Given the description of an element on the screen output the (x, y) to click on. 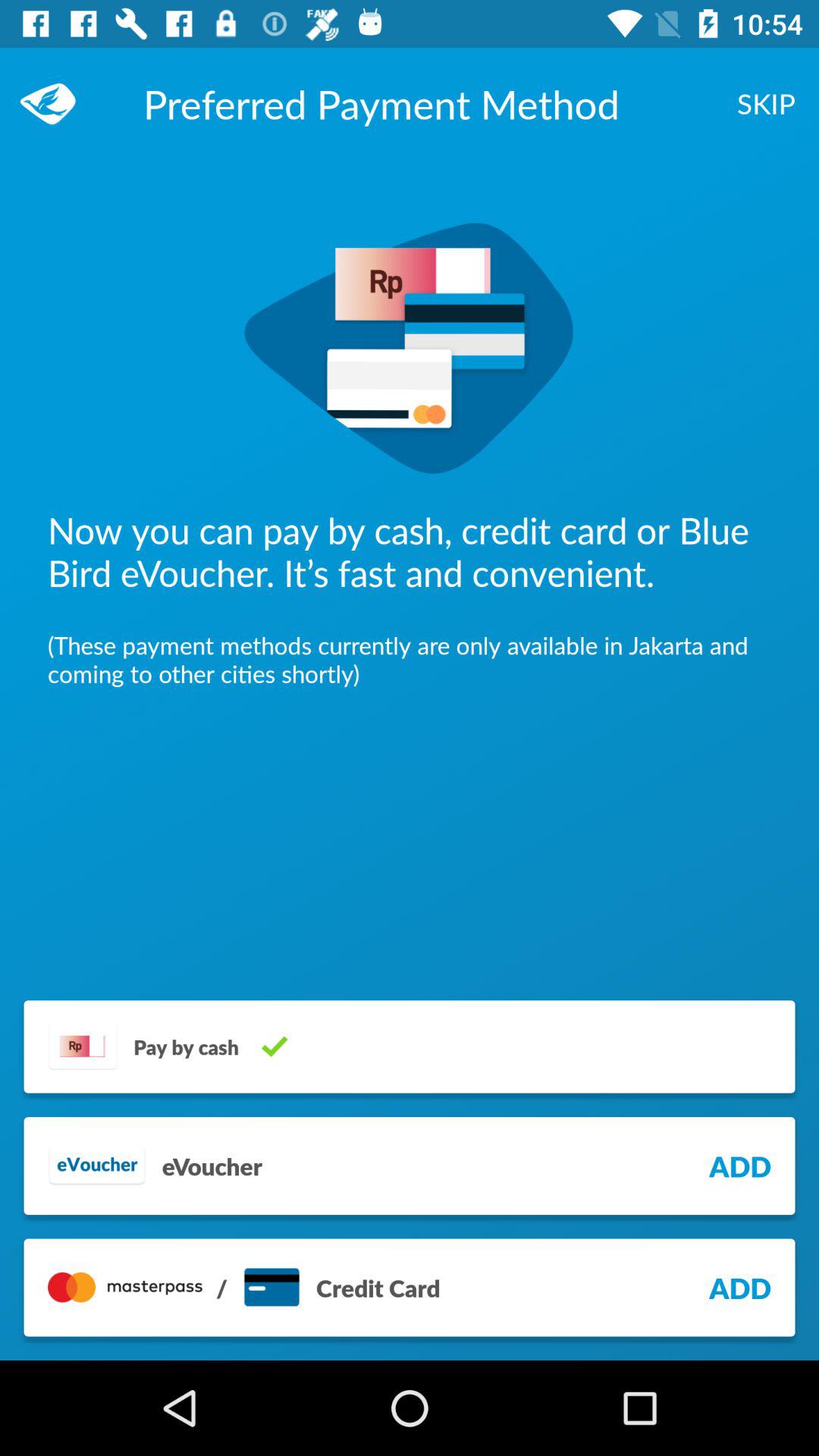
open the skip at the top right corner (766, 103)
